Given the description of an element on the screen output the (x, y) to click on. 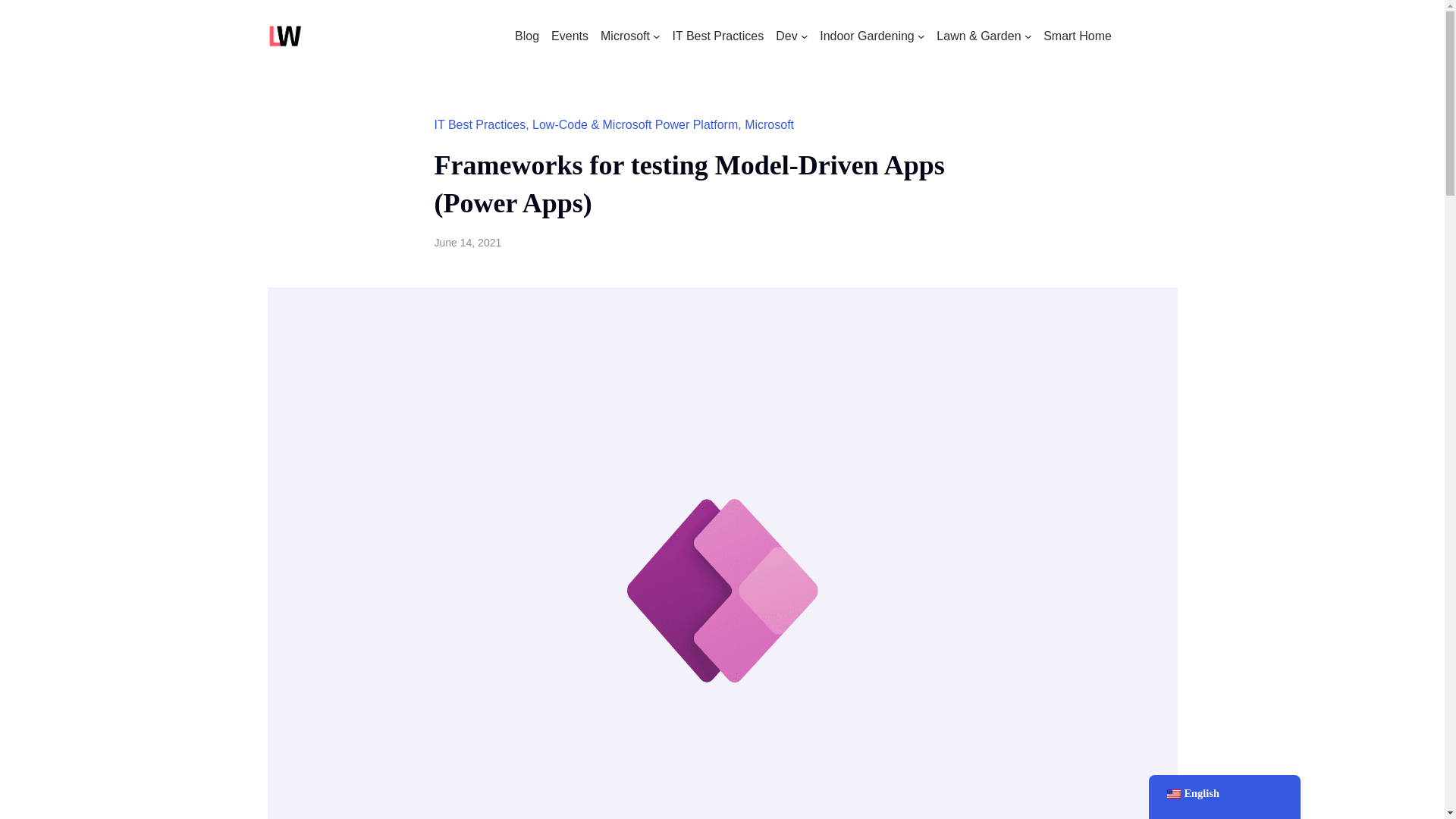
IT Best Practices (718, 35)
Microsoft (768, 124)
Microsoft (624, 35)
English (1172, 793)
Indoor Gardening (866, 35)
Blog (526, 35)
Events (569, 35)
IT Best Practices (479, 124)
Smart Home (1077, 35)
Dev (786, 35)
